Given the description of an element on the screen output the (x, y) to click on. 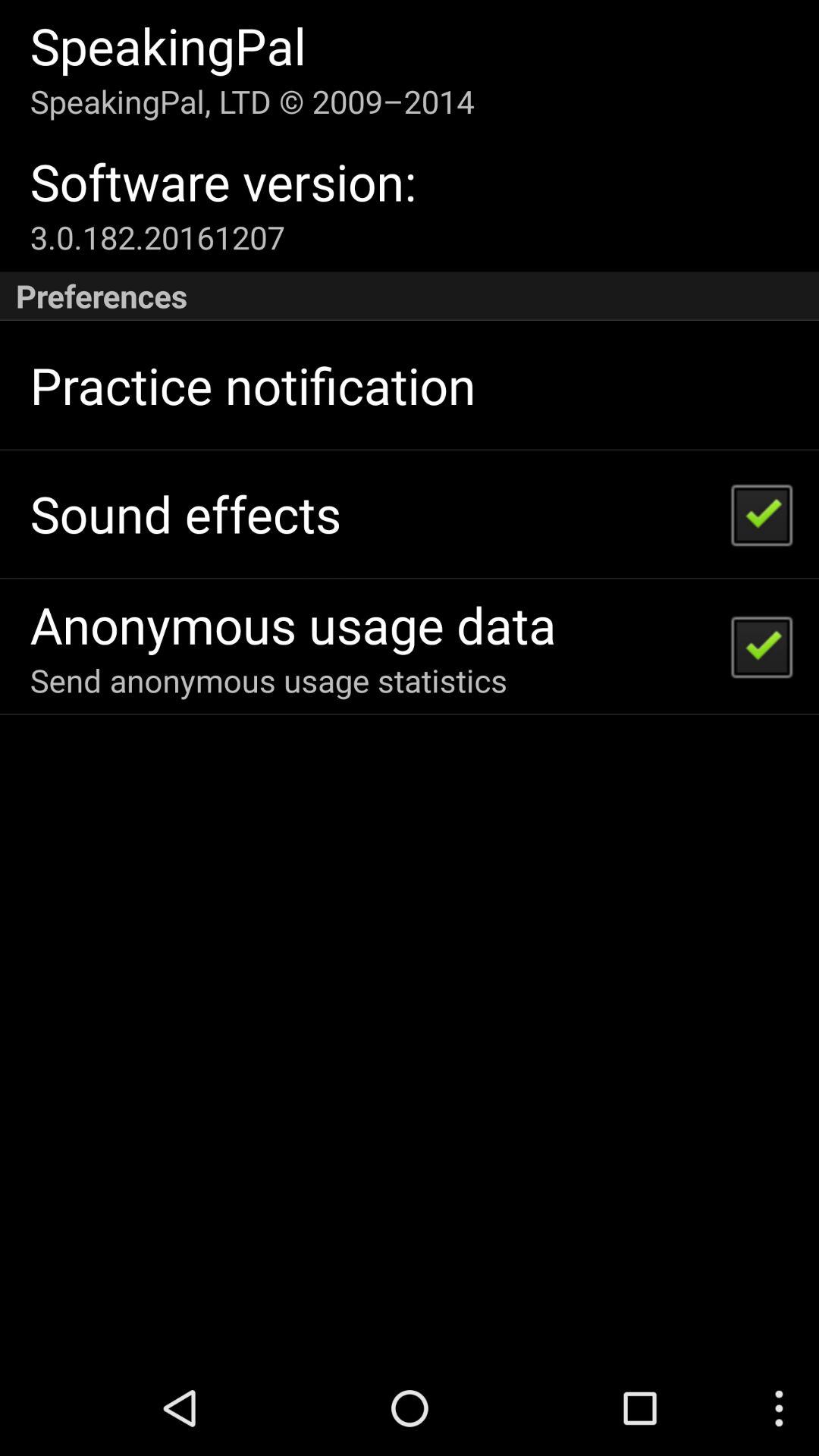
jump to the 3 0 182 (157, 236)
